Given the description of an element on the screen output the (x, y) to click on. 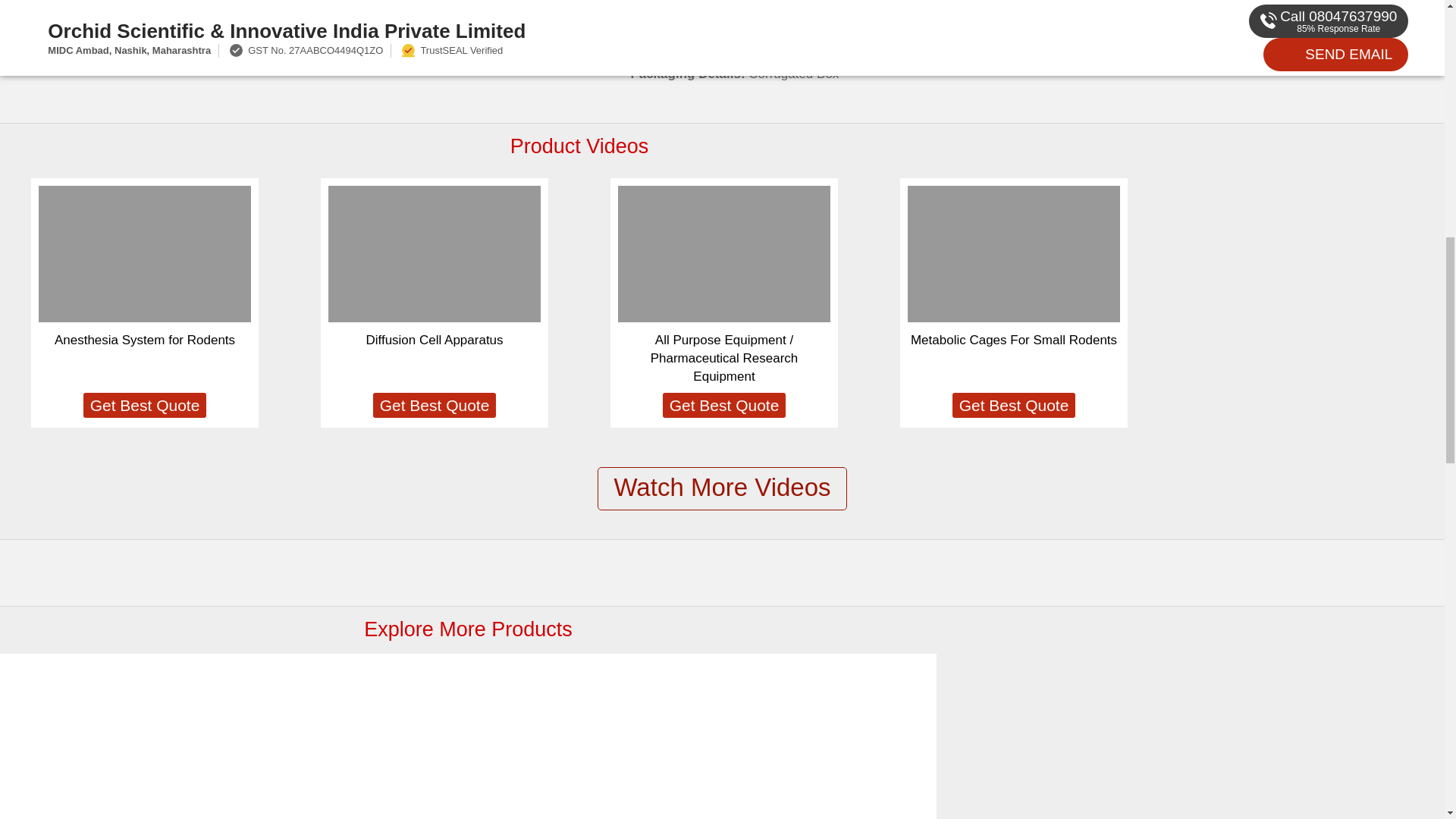
Watch More Videos (720, 488)
Metabolic Cages For Small Rodents (108, 758)
Metabolic Cages For Small Rodents (1013, 339)
Diffusion Cell Apparatus (433, 339)
Anesthesia System for Rodents (144, 339)
